Given the description of an element on the screen output the (x, y) to click on. 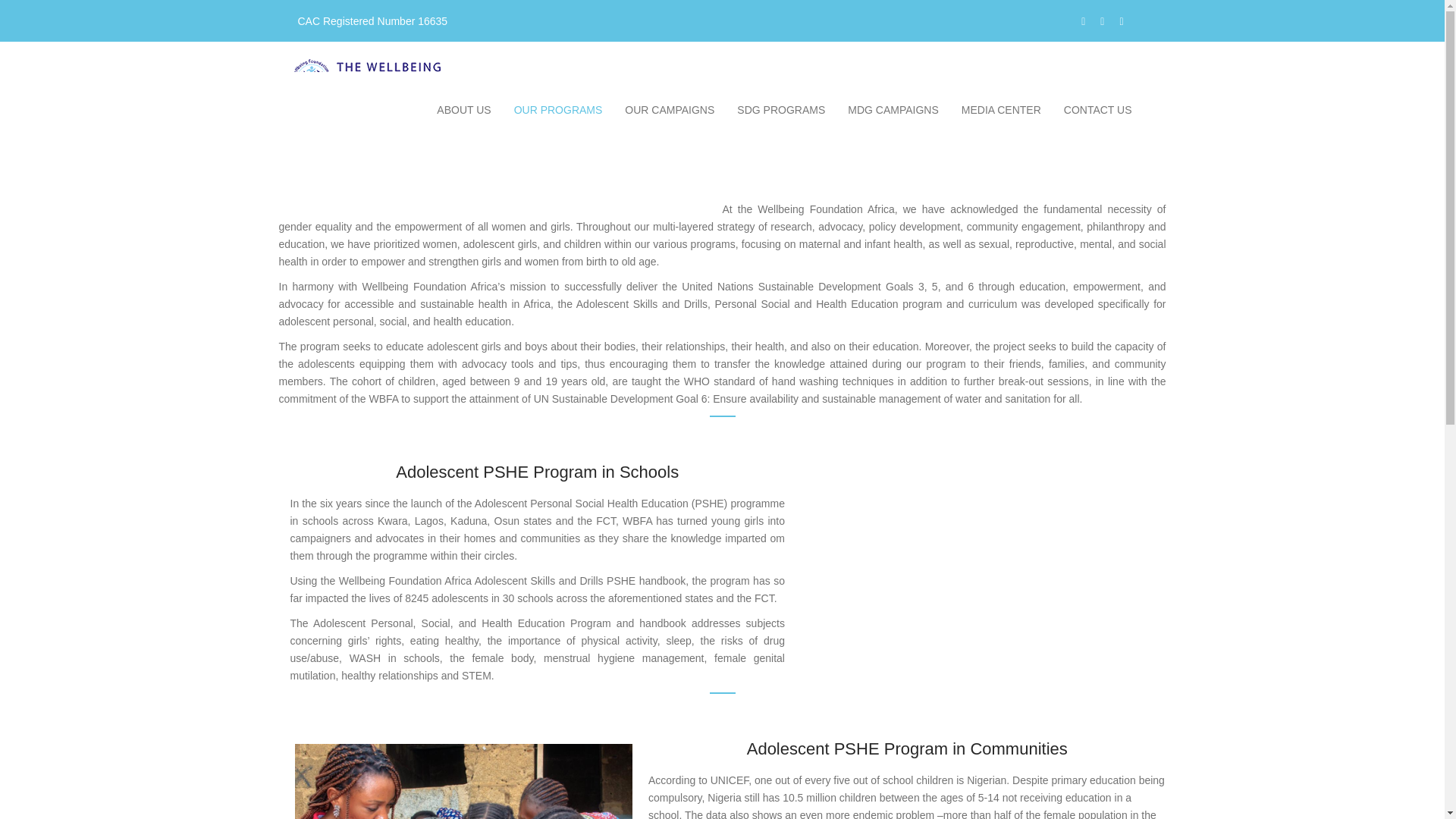
MDG CAMPAIGNS (892, 109)
OUR CAMPAIGNS (668, 109)
SDG PROGRAMS (780, 109)
ABOUT US (463, 109)
MDG CAMPAIGNS (892, 109)
SDG PROGRAMS (780, 109)
MEDIA CENTER (1001, 109)
OUR CAMPAIGNS (668, 109)
OUR PROGRAMS (558, 109)
